Given the description of an element on the screen output the (x, y) to click on. 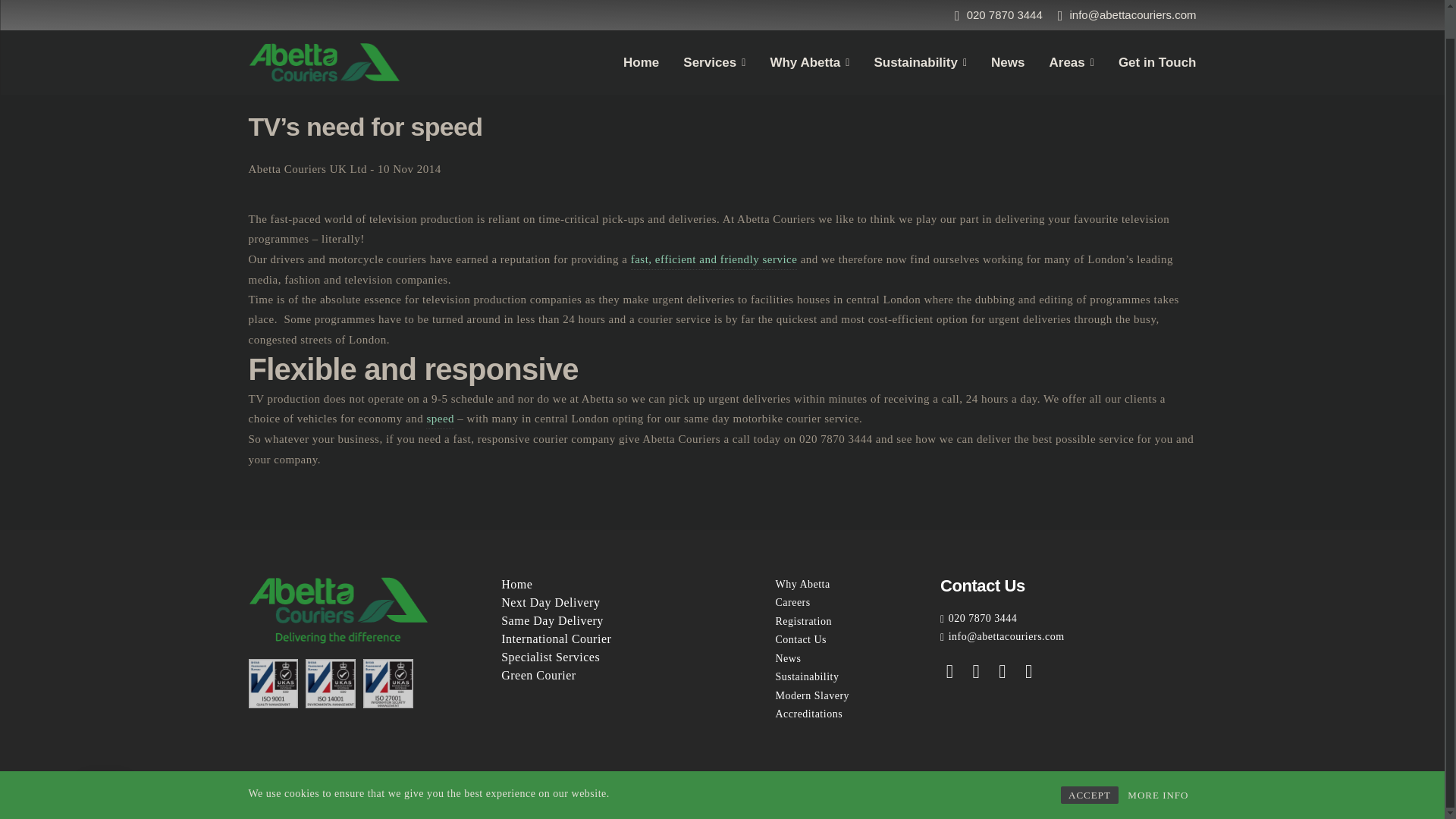
Speedy Same Day Delivery Services (440, 418)
MORE INFO (1157, 765)
Abetta Courier Services (713, 259)
ACCEPT (1089, 765)
